Given the description of an element on the screen output the (x, y) to click on. 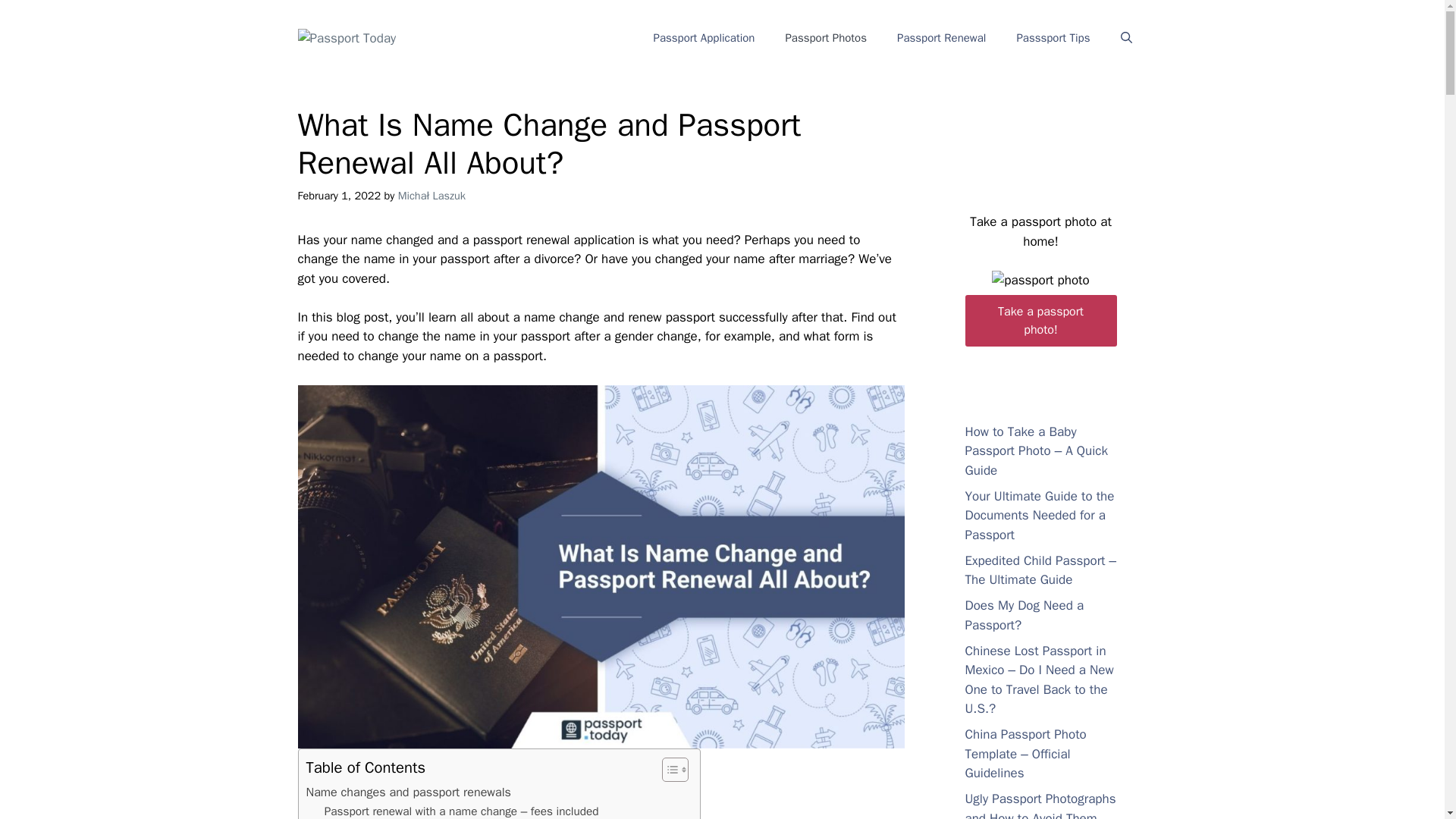
Passport Today (346, 37)
Passport Photos (826, 37)
Passsport Tips (1053, 37)
Name changes and passport renewals (408, 792)
Passport Application (704, 37)
Passport Renewal (941, 37)
Name changes and passport renewals (408, 792)
Passport Today (346, 38)
